Given the description of an element on the screen output the (x, y) to click on. 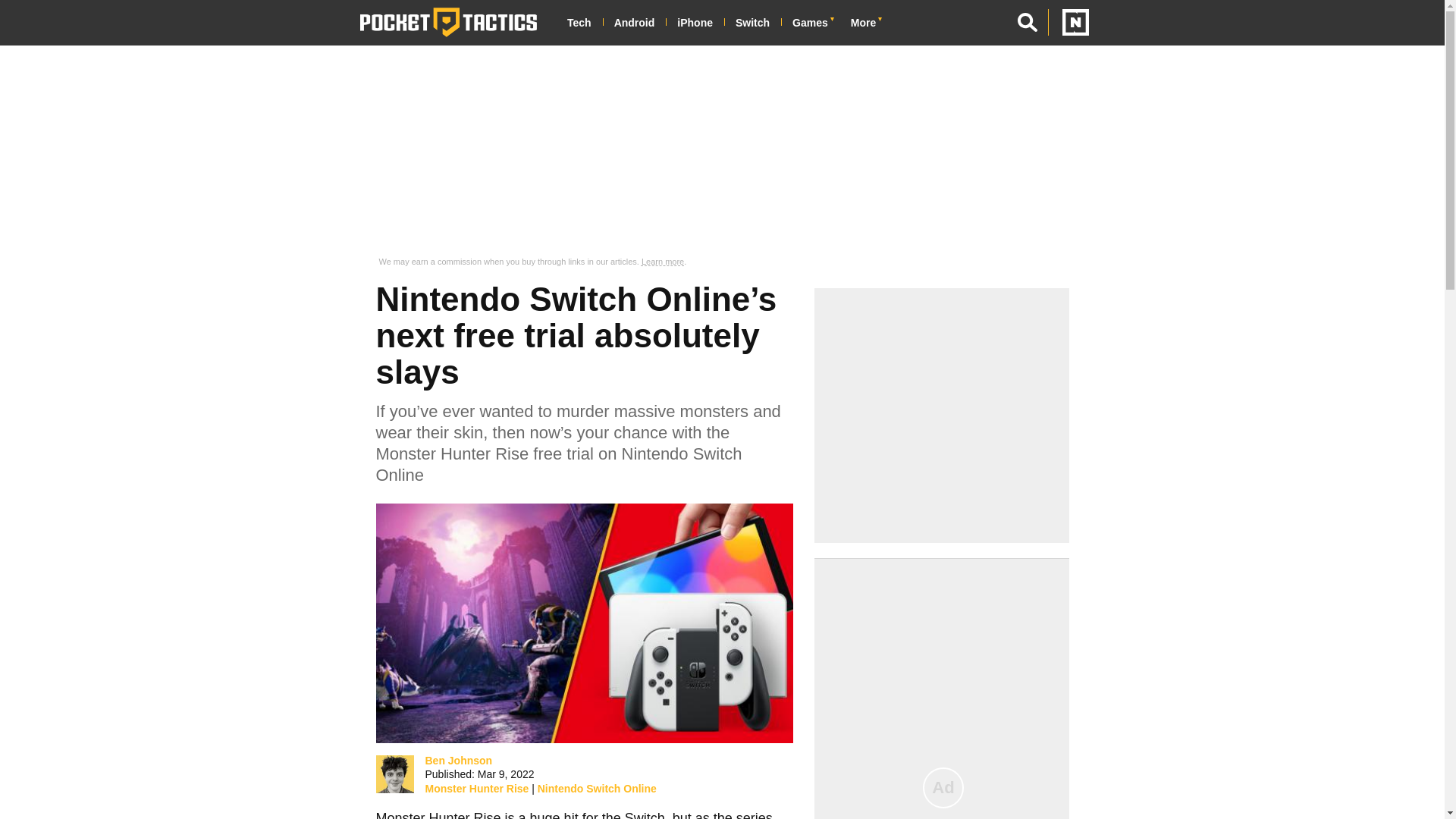
Monster Hunter Rise (437, 814)
Monster Hunter Rise (476, 788)
Network N Media (1068, 22)
Games (816, 22)
Pocket Tactics (448, 22)
Android (640, 22)
Ben Johnson (394, 774)
iPhone (700, 22)
Learn more (663, 261)
Nintendo Switch Online (596, 788)
